Given the description of an element on the screen output the (x, y) to click on. 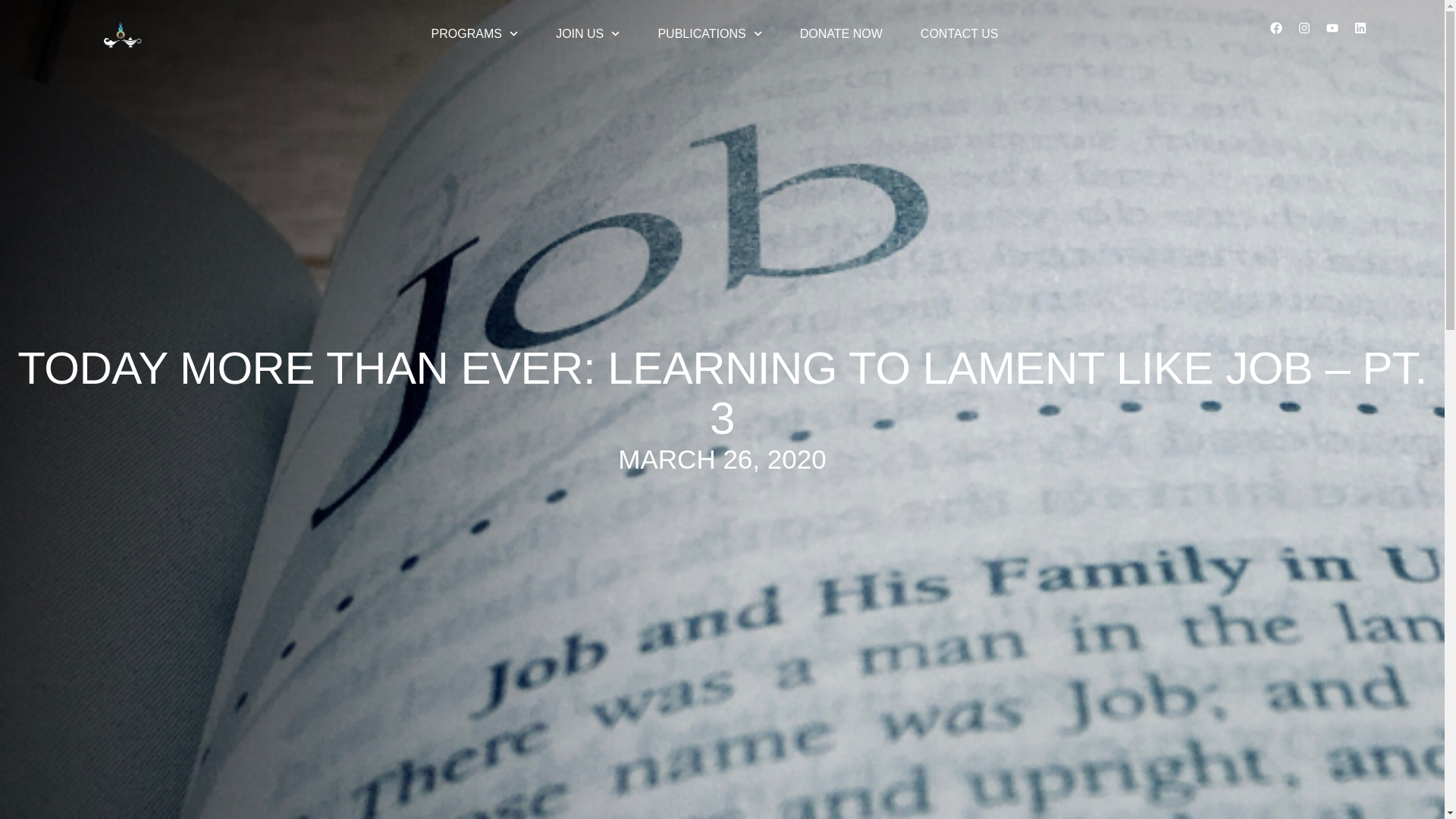
PUBLICATIONS (709, 33)
PROGRAMS (474, 33)
JOIN US (588, 33)
CONTACT US (959, 33)
DONATE NOW (840, 33)
